Given the description of an element on the screen output the (x, y) to click on. 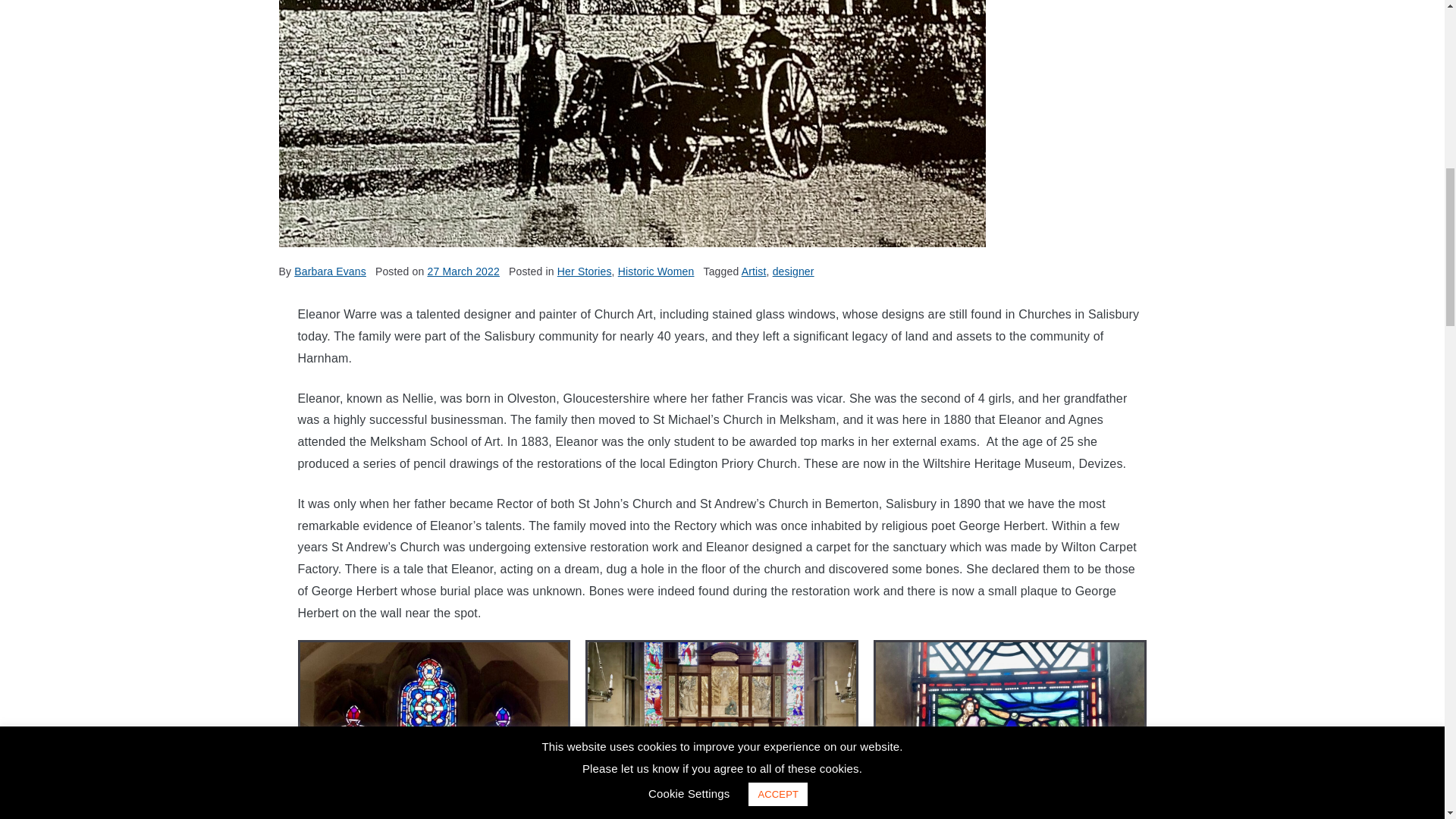
Artist (754, 271)
Historic Women (655, 271)
Barbara Evans (330, 271)
27 March 2022 (462, 271)
designer (793, 271)
Her Stories (584, 271)
